Given the description of an element on the screen output the (x, y) to click on. 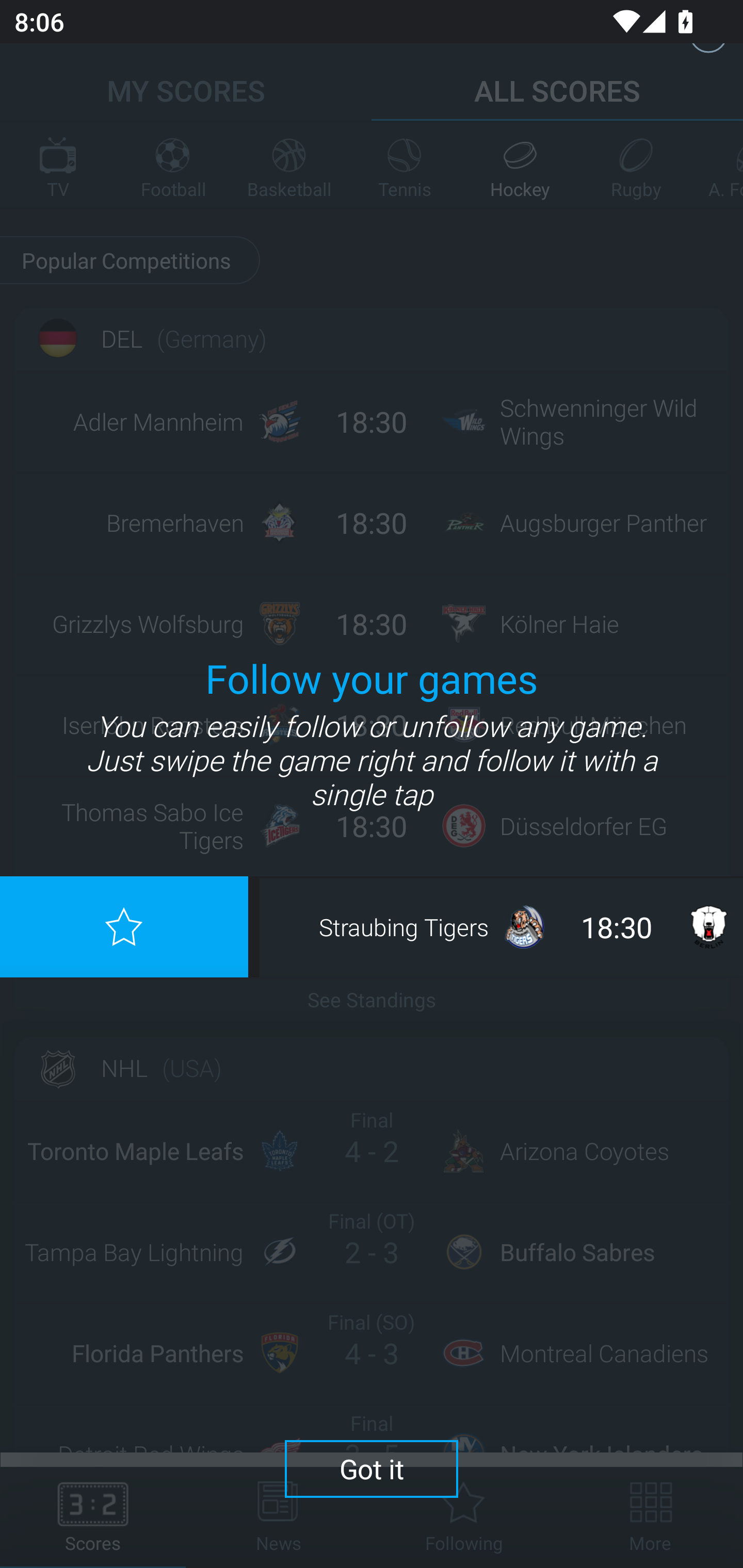
Straubing Tigers 18:30 Eisbären Berlin (502, 926)
Got it (371, 1468)
